Given the description of an element on the screen output the (x, y) to click on. 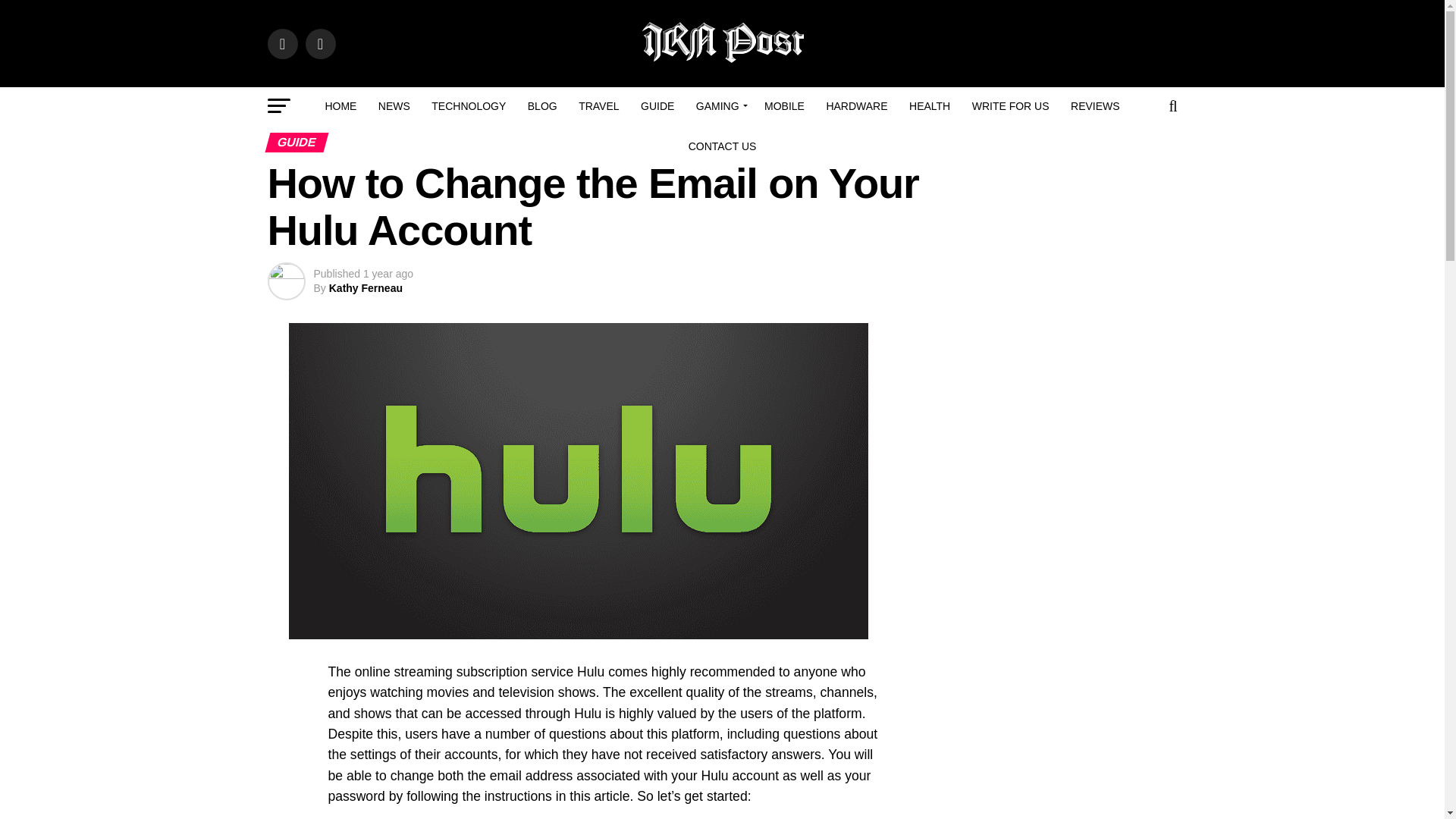
GUIDE (656, 105)
NEWS (394, 105)
TRAVEL (598, 105)
Posts by Kathy Ferneau (366, 287)
GAMING (719, 105)
TECHNOLOGY (468, 105)
HOME (340, 105)
BLOG (542, 105)
